Given the description of an element on the screen output the (x, y) to click on. 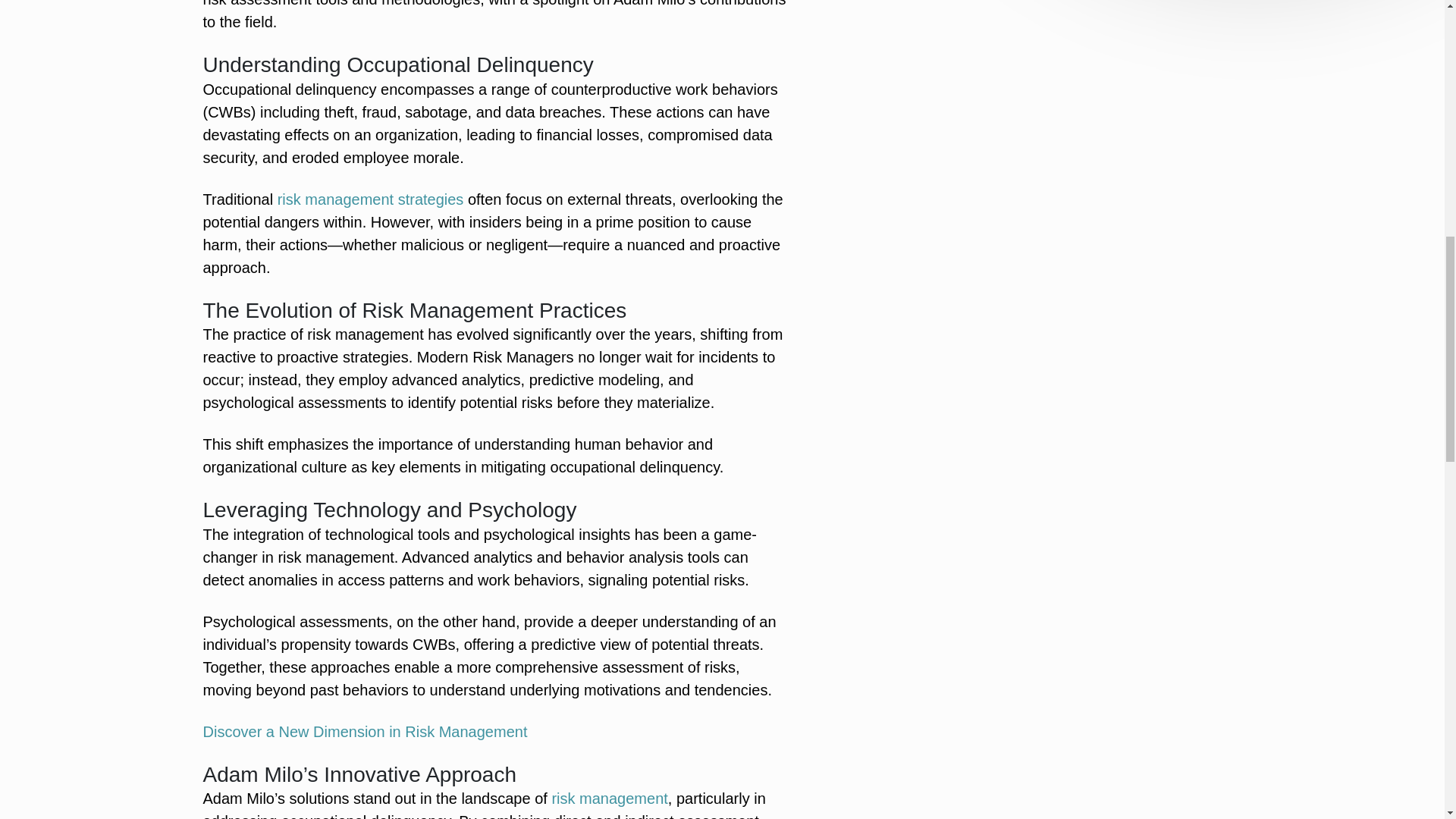
risk management (608, 798)
risk management strategies (371, 199)
Discover a New Dimension in Risk Management (365, 731)
